Given the description of an element on the screen output the (x, y) to click on. 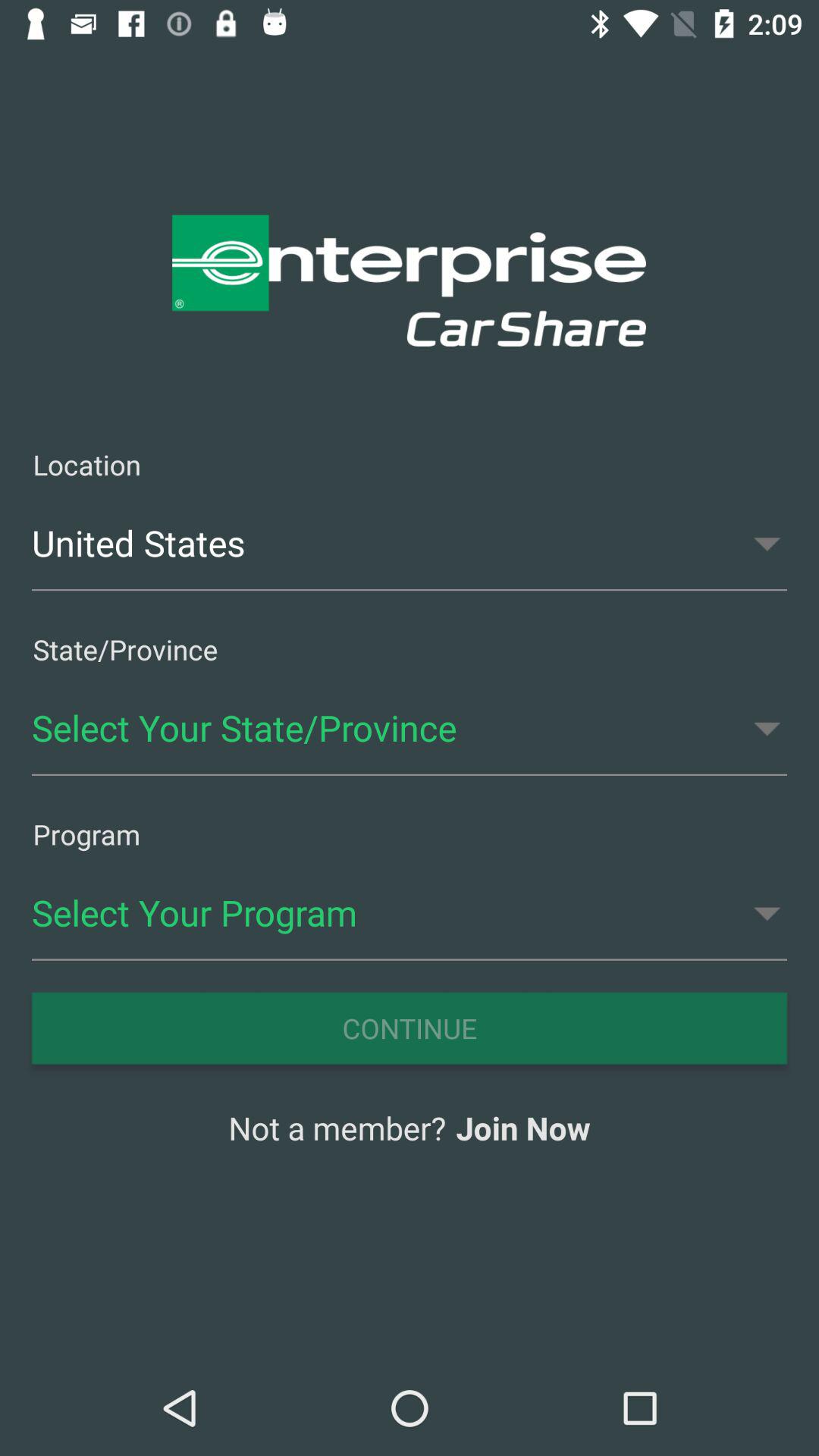
scroll to the continue icon (409, 1028)
